Given the description of an element on the screen output the (x, y) to click on. 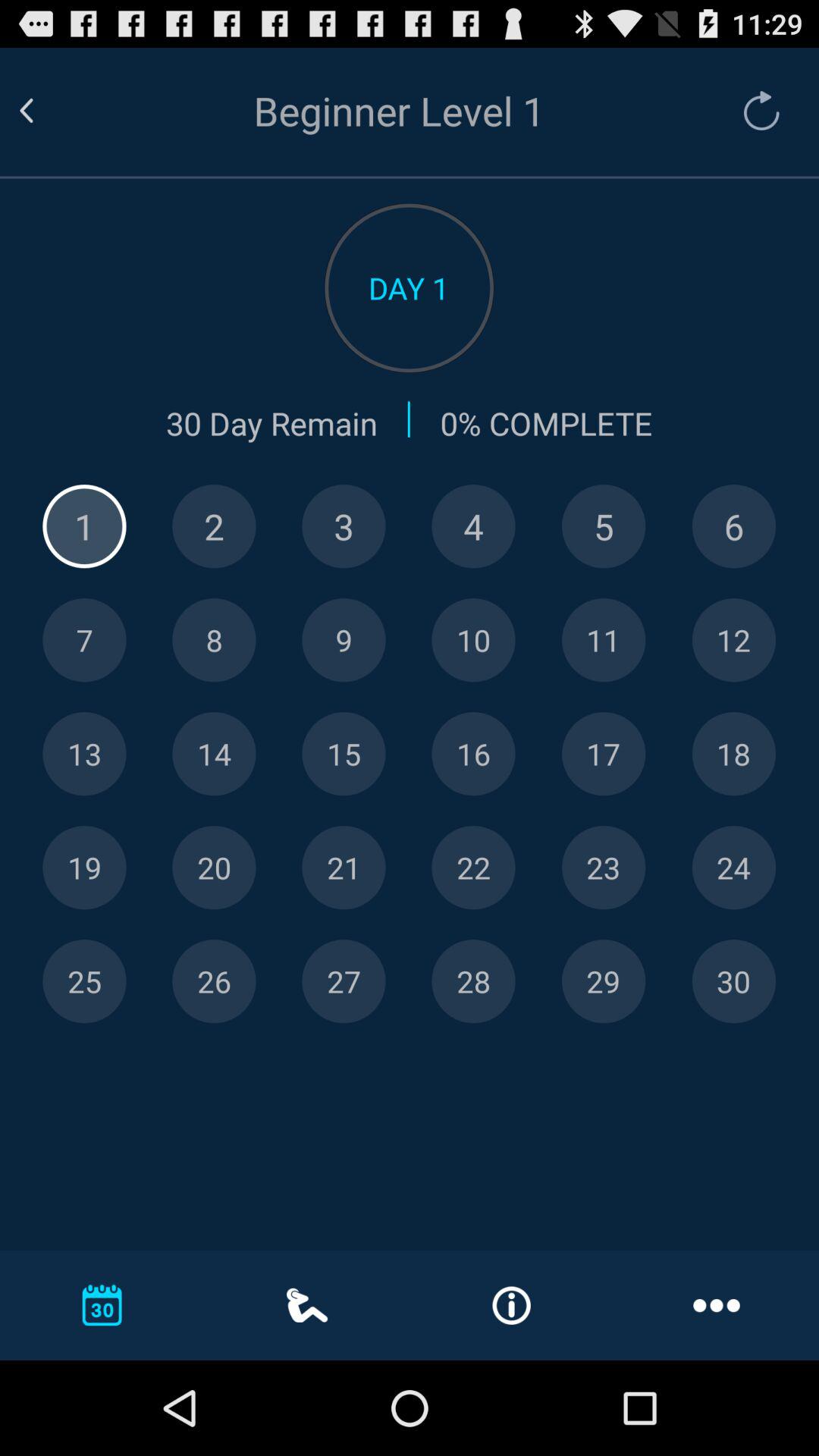
14 (213, 753)
